Given the description of an element on the screen output the (x, y) to click on. 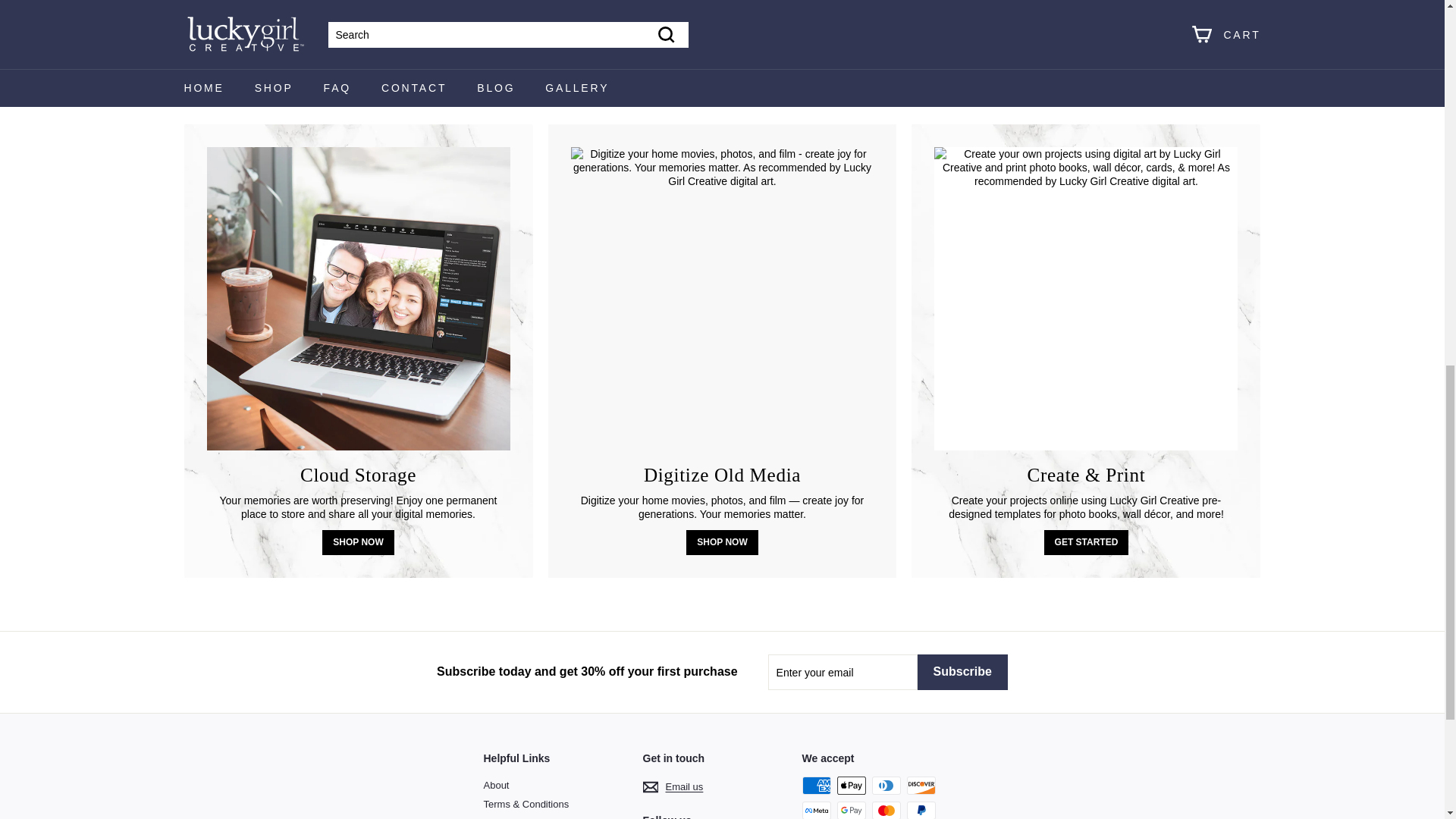
Apple Pay (851, 785)
American Express (816, 785)
PayPal (921, 810)
Meta Pay (816, 810)
Diners Club (886, 785)
Discover (921, 785)
Google Pay (851, 810)
Mastercard (886, 810)
